Given the description of an element on the screen output the (x, y) to click on. 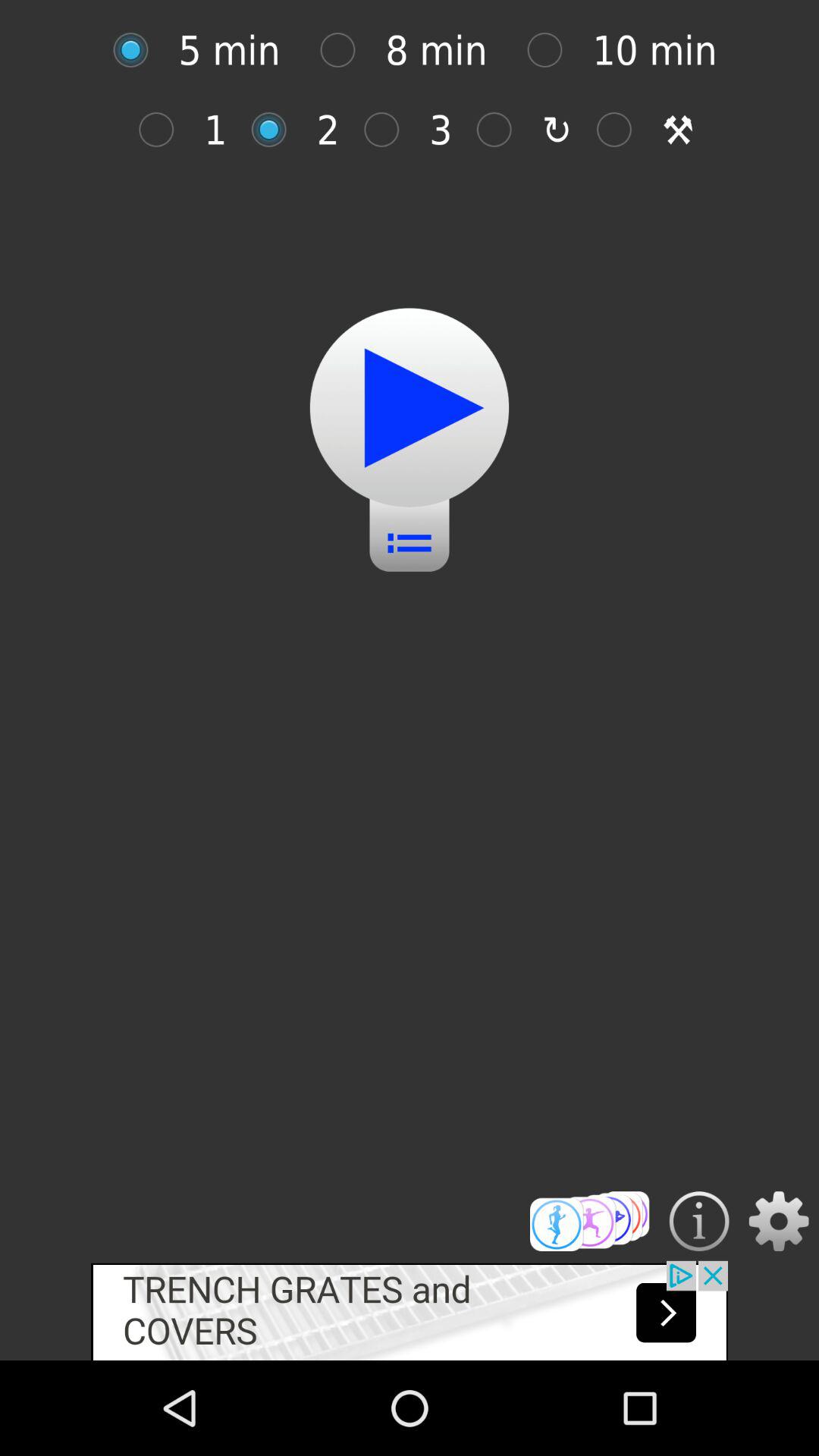
select option one (164, 129)
